Given the description of an element on the screen output the (x, y) to click on. 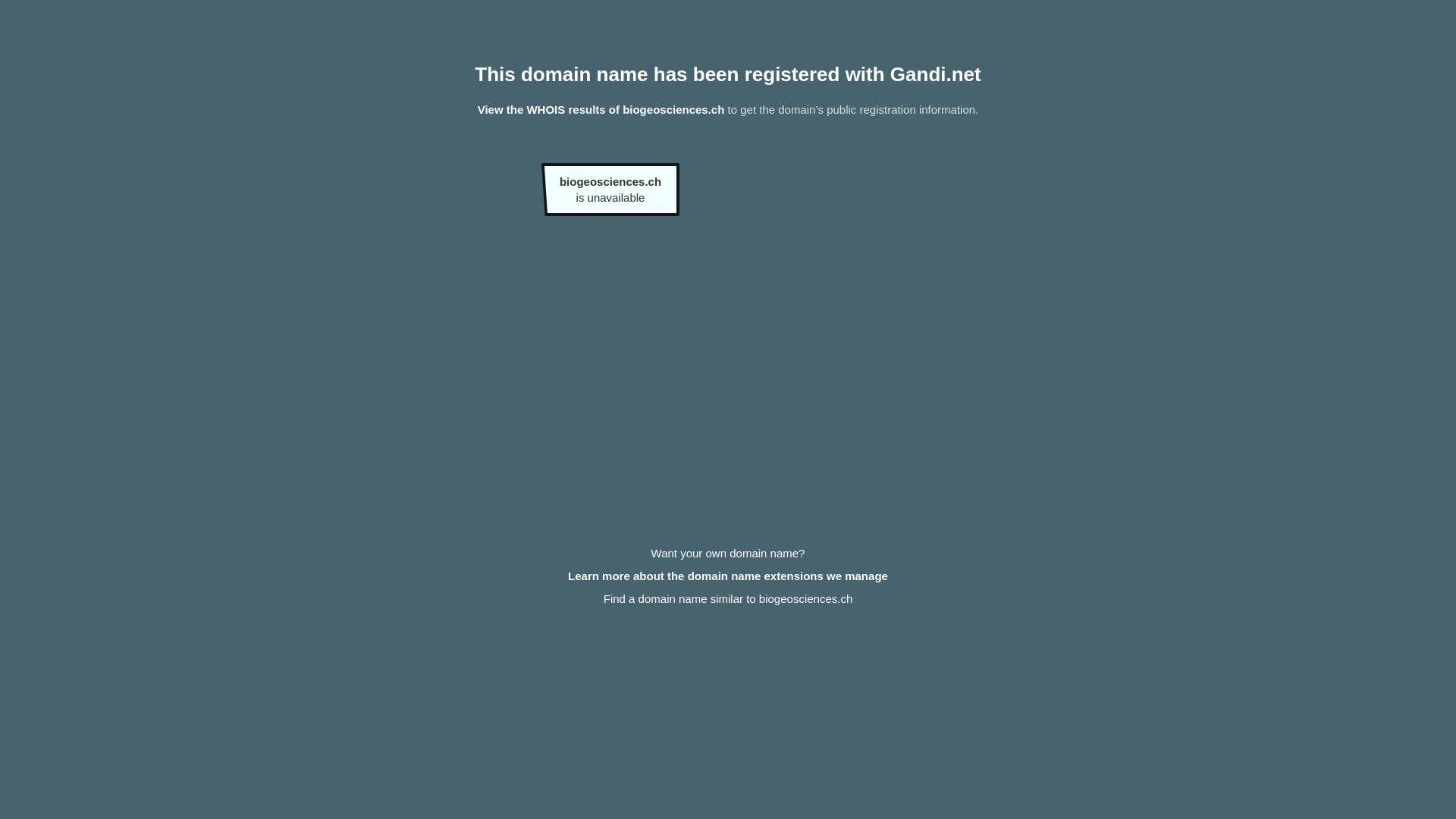
Learn more about the domain name extensions we manage Element type: text (727, 575)
View the WHOIS results of biogeosciences.ch Element type: text (600, 109)
Find a domain name similar to biogeosciences.ch Element type: text (728, 598)
